Given the description of an element on the screen output the (x, y) to click on. 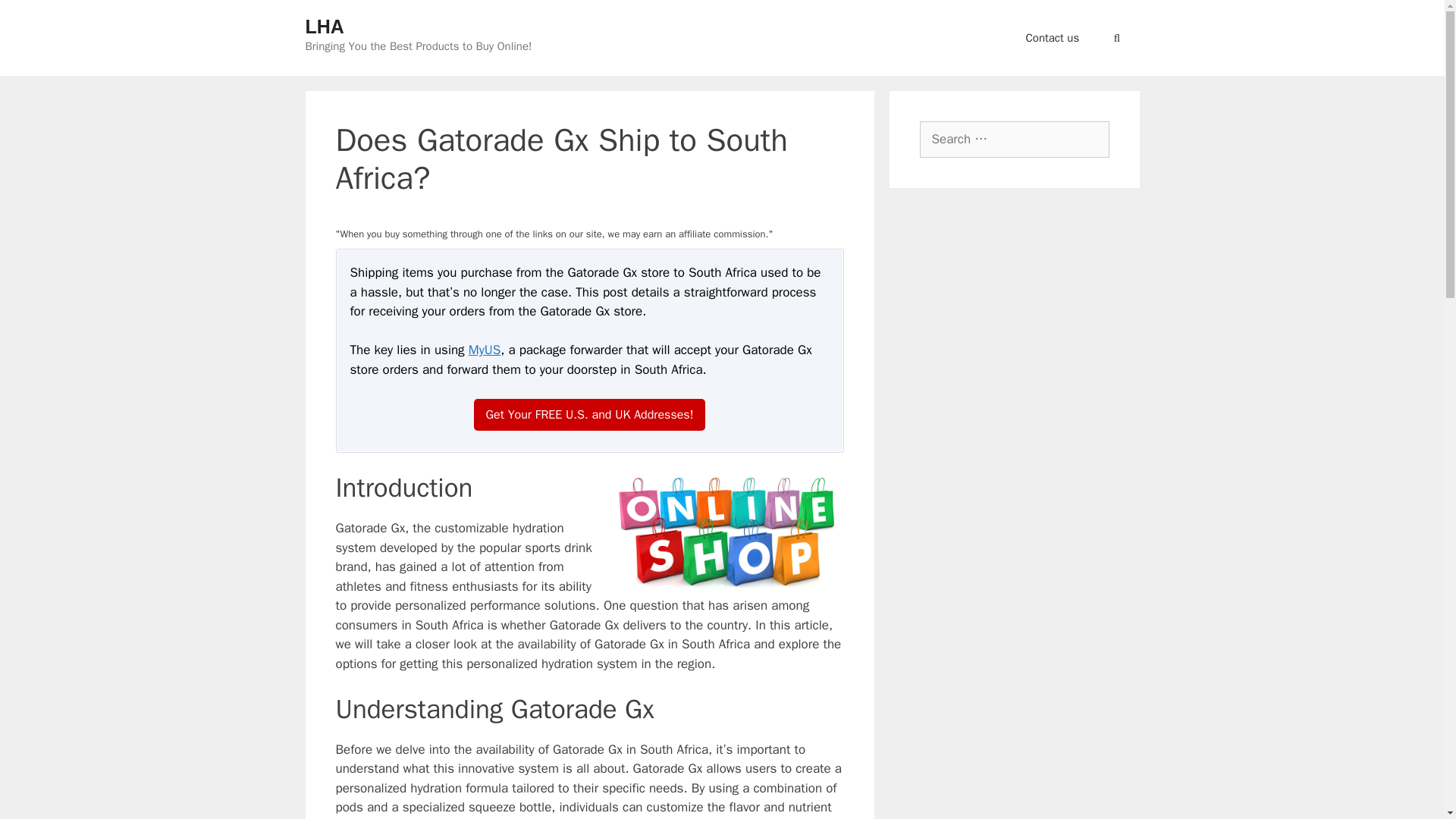
MyUS (484, 349)
Contact us (1052, 37)
Search (33, 15)
Search for: (1013, 139)
LHA (323, 25)
Get Your FREE U.S. and UK Addresses! (590, 414)
